Given the description of an element on the screen output the (x, y) to click on. 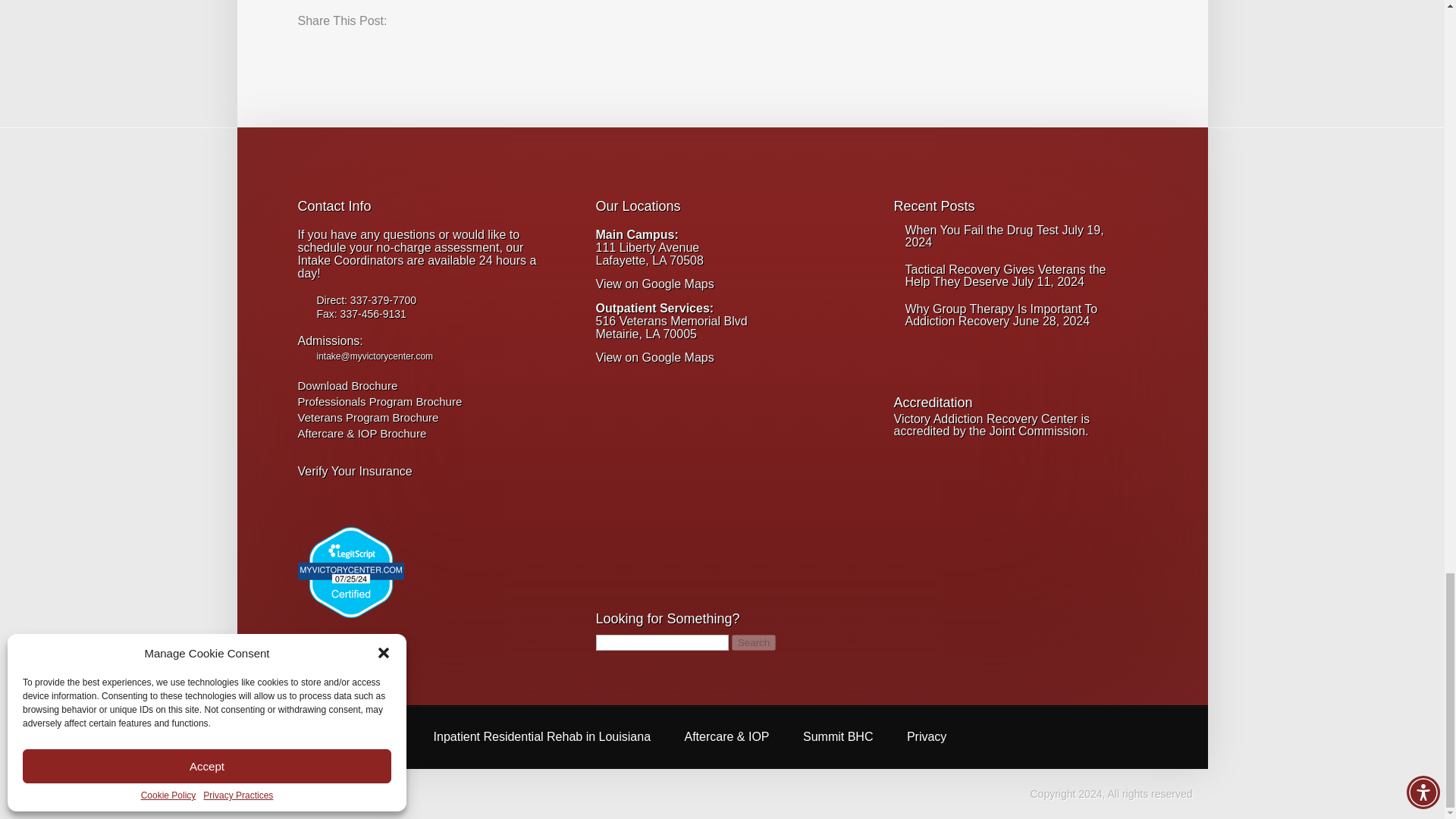
Pin it with Pinterest (365, 50)
Share by email (421, 50)
Search (754, 642)
Share on Linkedin (393, 50)
Share on Facebook (309, 50)
Share on Twitter (338, 50)
